Given the description of an element on the screen output the (x, y) to click on. 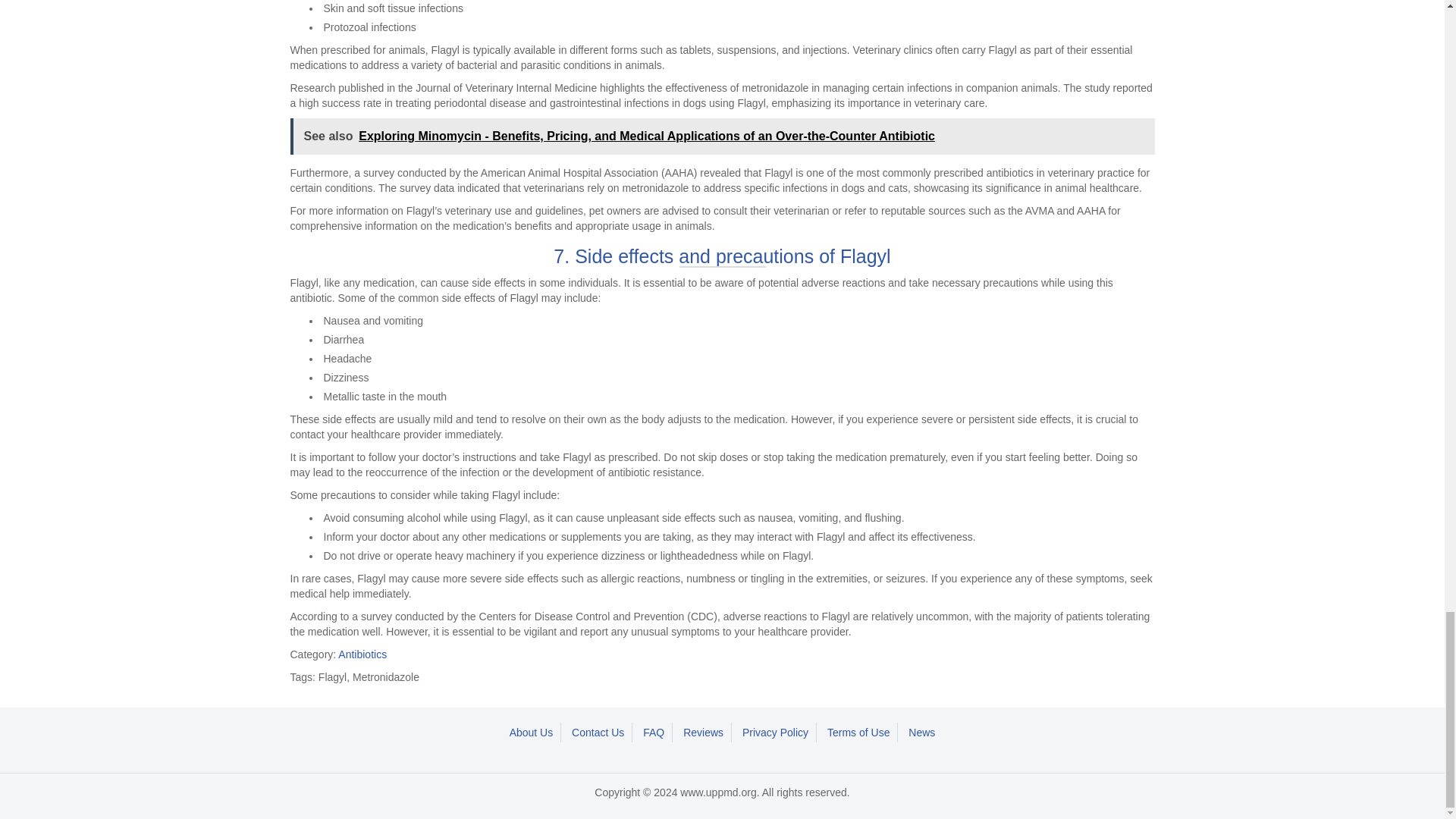
Terms of Use (858, 732)
Antibiotics (362, 654)
News (921, 732)
About Us (532, 732)
Privacy Policy (775, 732)
Contact Us (597, 732)
Reviews (703, 732)
FAQ (653, 732)
